Given the description of an element on the screen output the (x, y) to click on. 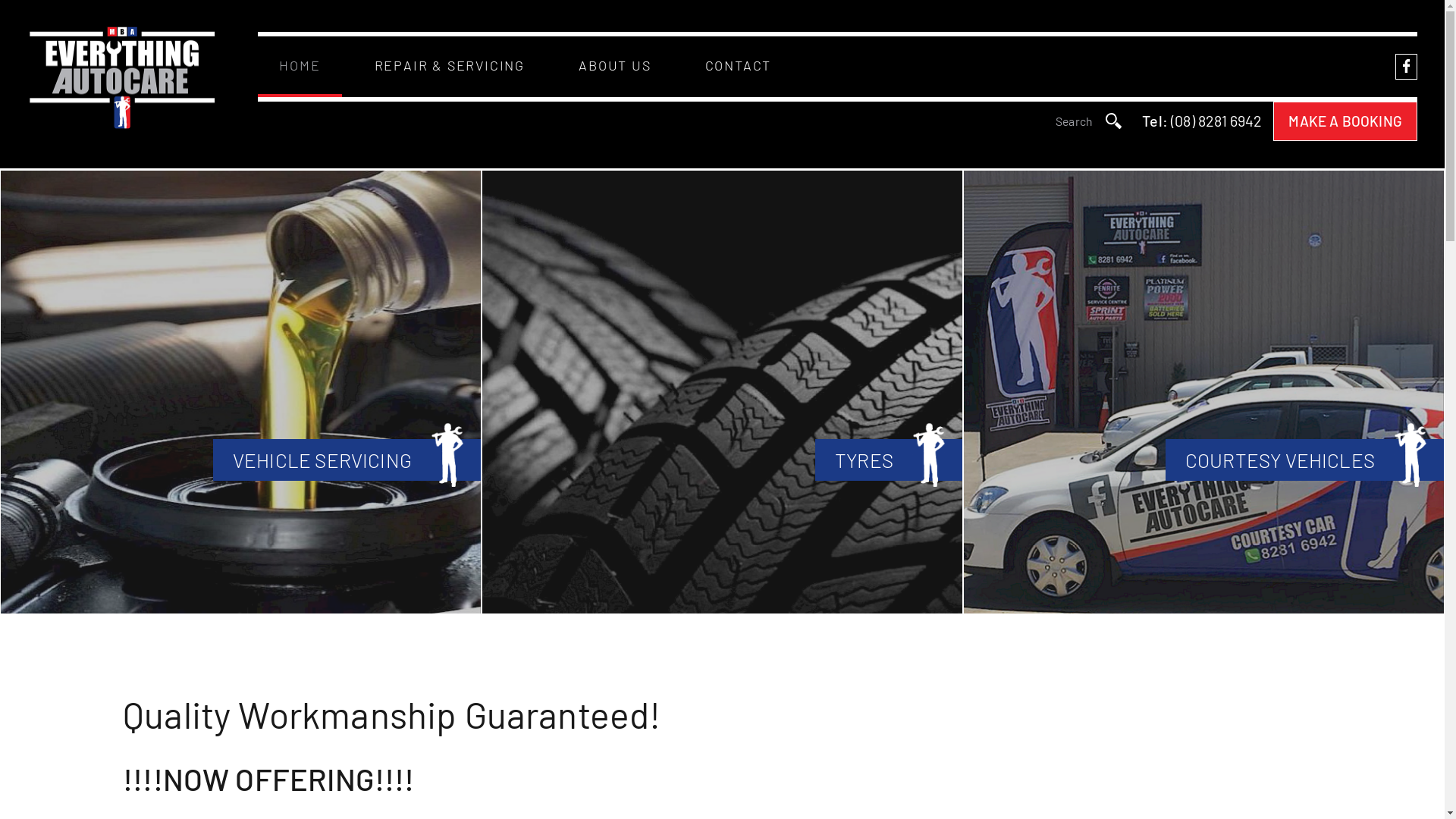
Everything Autocare on Facebook Element type: hover (1406, 65)
COURTESY VEHICLES Element type: text (1203, 391)
CONTACT Element type: text (738, 66)
MAKE A BOOKING Element type: text (1345, 120)
HOME Element type: text (299, 66)
Everything Autocare Homepage Element type: hover (121, 77)
TYRES Element type: text (722, 391)
REPAIR & SERVICING Element type: text (449, 66)
ABOUT US Element type: text (614, 66)
VEHICLE SERVICING Element type: text (240, 391)
(08) 8281 6942 Element type: text (1216, 120)
